Given the description of an element on the screen output the (x, y) to click on. 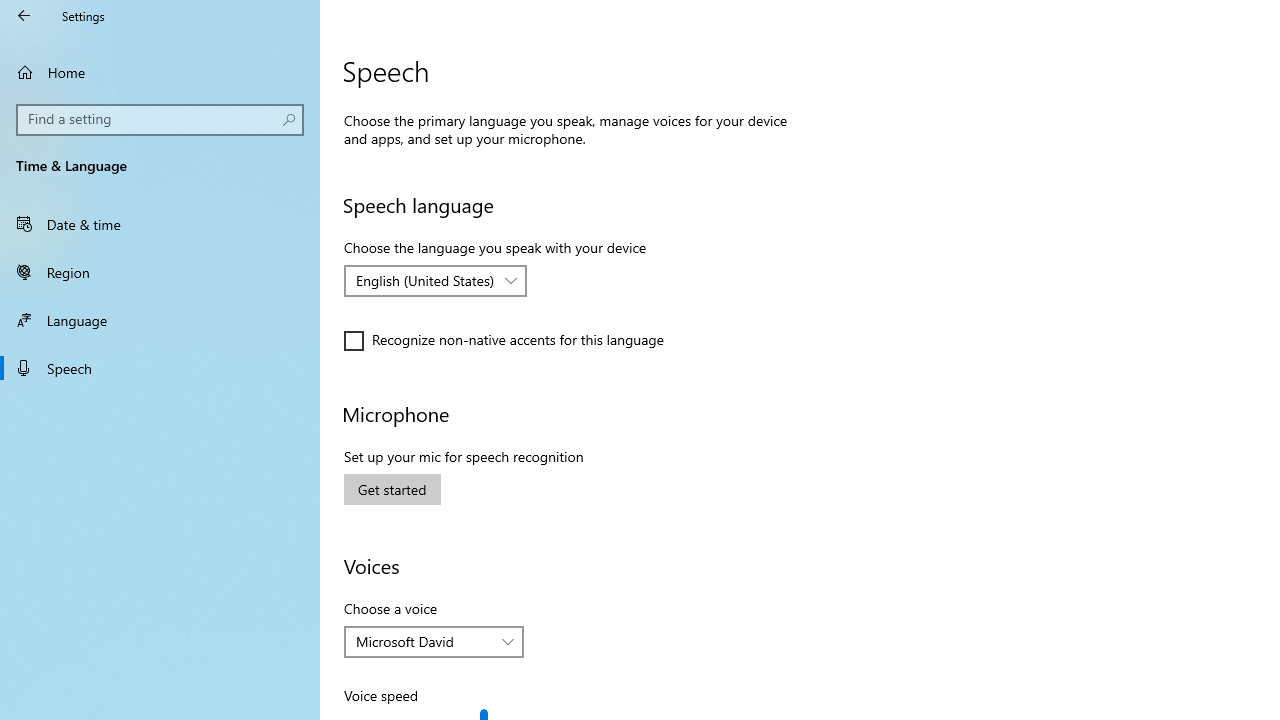
Speech (160, 367)
Recognize non-native accents for this language (504, 340)
English (United States) (425, 280)
Date & time (160, 223)
Microsoft David (423, 641)
Search box, Find a setting (160, 119)
Region (160, 271)
Home (160, 71)
Choose a voice (433, 641)
Language (160, 319)
Back (24, 15)
Choose the language you speak with your device (435, 280)
Get started (392, 488)
